Given the description of an element on the screen output the (x, y) to click on. 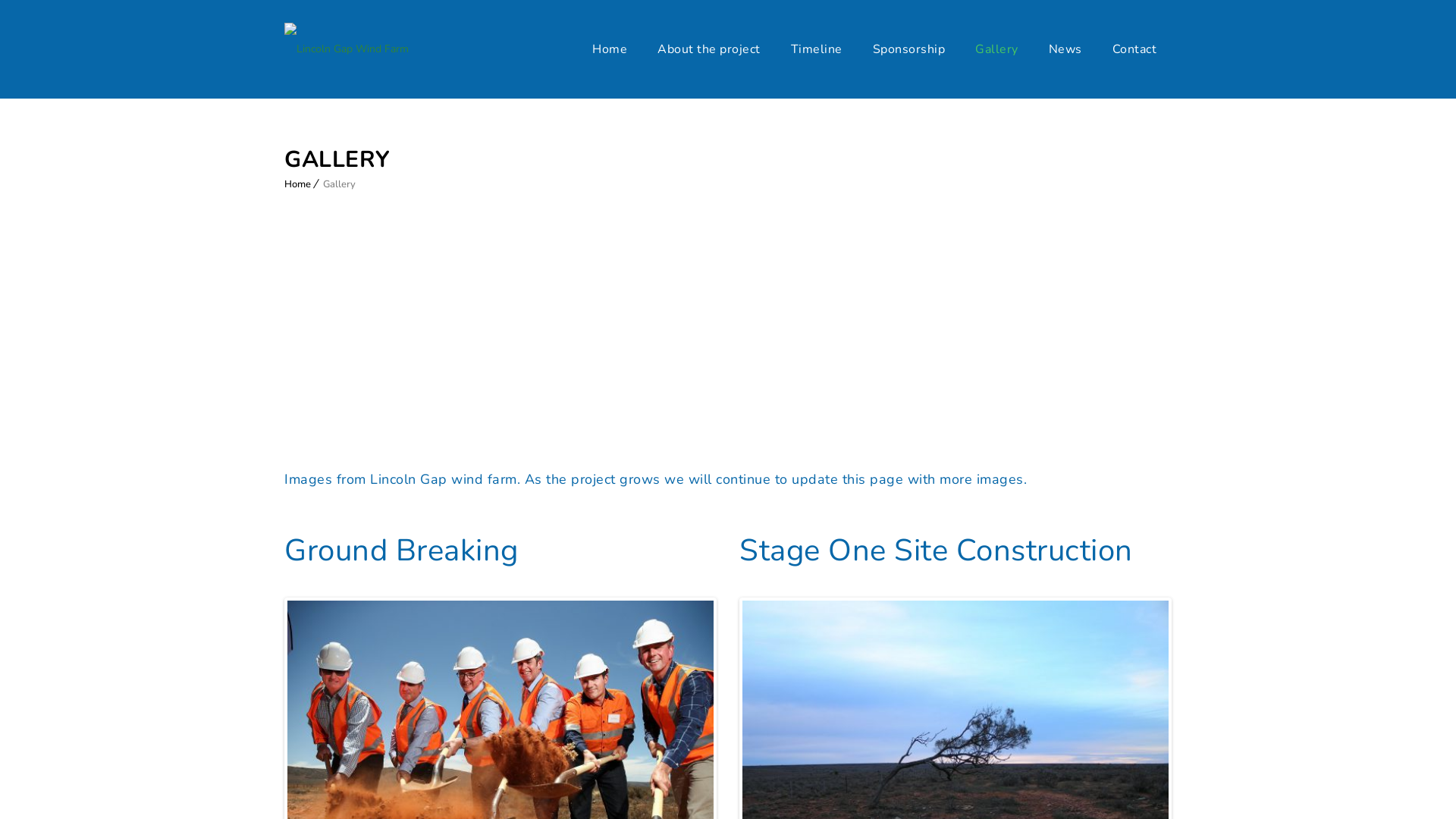
Home Element type: text (297, 184)
Lincoln Gap Wind Farm Element type: hover (346, 48)
Gallery Element type: text (996, 49)
Lincoln Gap Wind Farm Element type: hover (346, 49)
Timeline Element type: text (815, 49)
Home Element type: text (609, 49)
Contact Element type: text (1133, 49)
About the project Element type: text (708, 49)
News Element type: text (1064, 49)
Sponsorship Element type: text (908, 49)
